Given the description of an element on the screen output the (x, y) to click on. 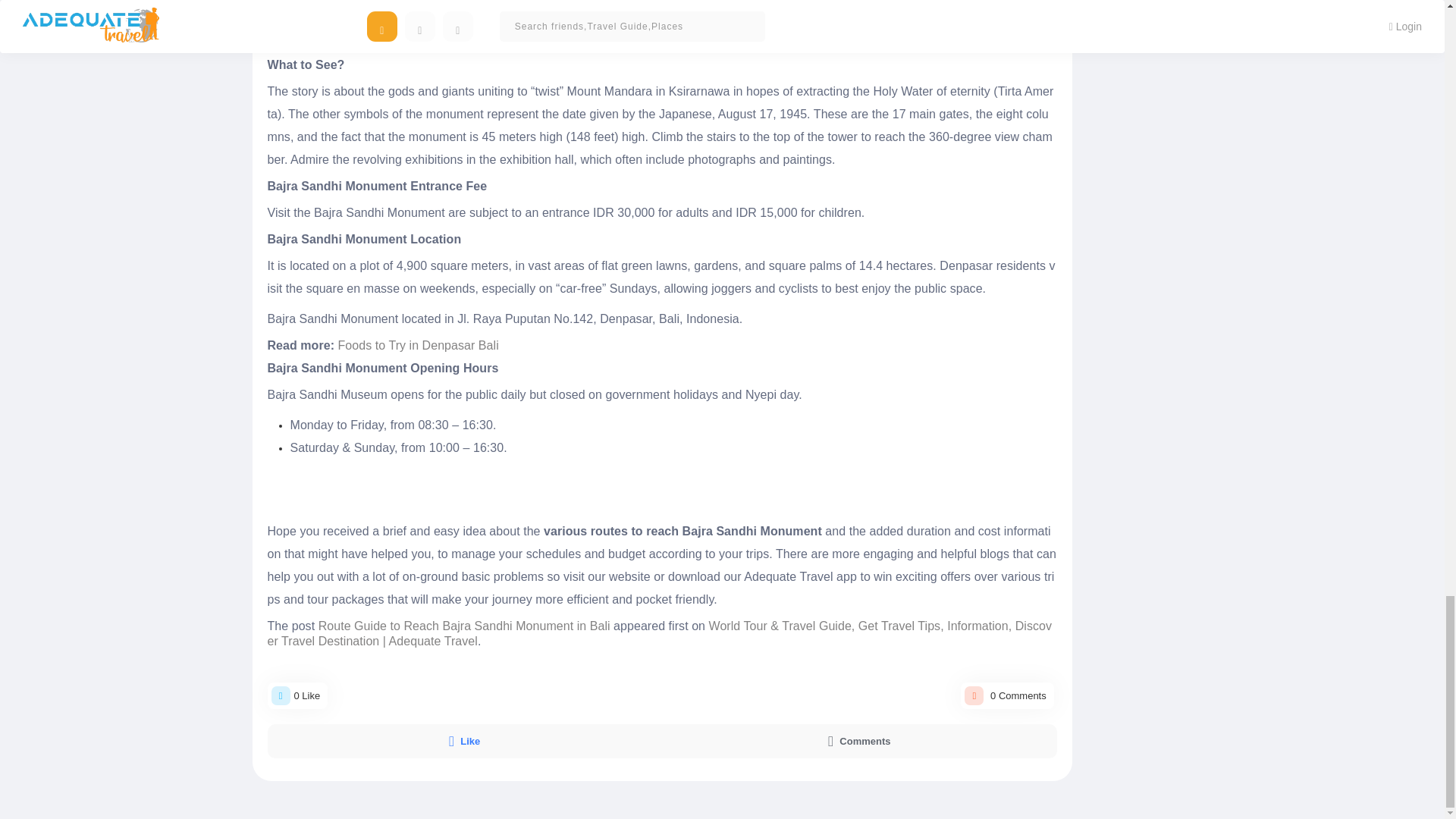
Foods to Try in Denpasar Bali (418, 345)
Route Guide to Reach Bajra Sandhi Monument in Bali (464, 625)
Best Honeymoon Destinations in Bali for 2021 (462, 42)
